Given the description of an element on the screen output the (x, y) to click on. 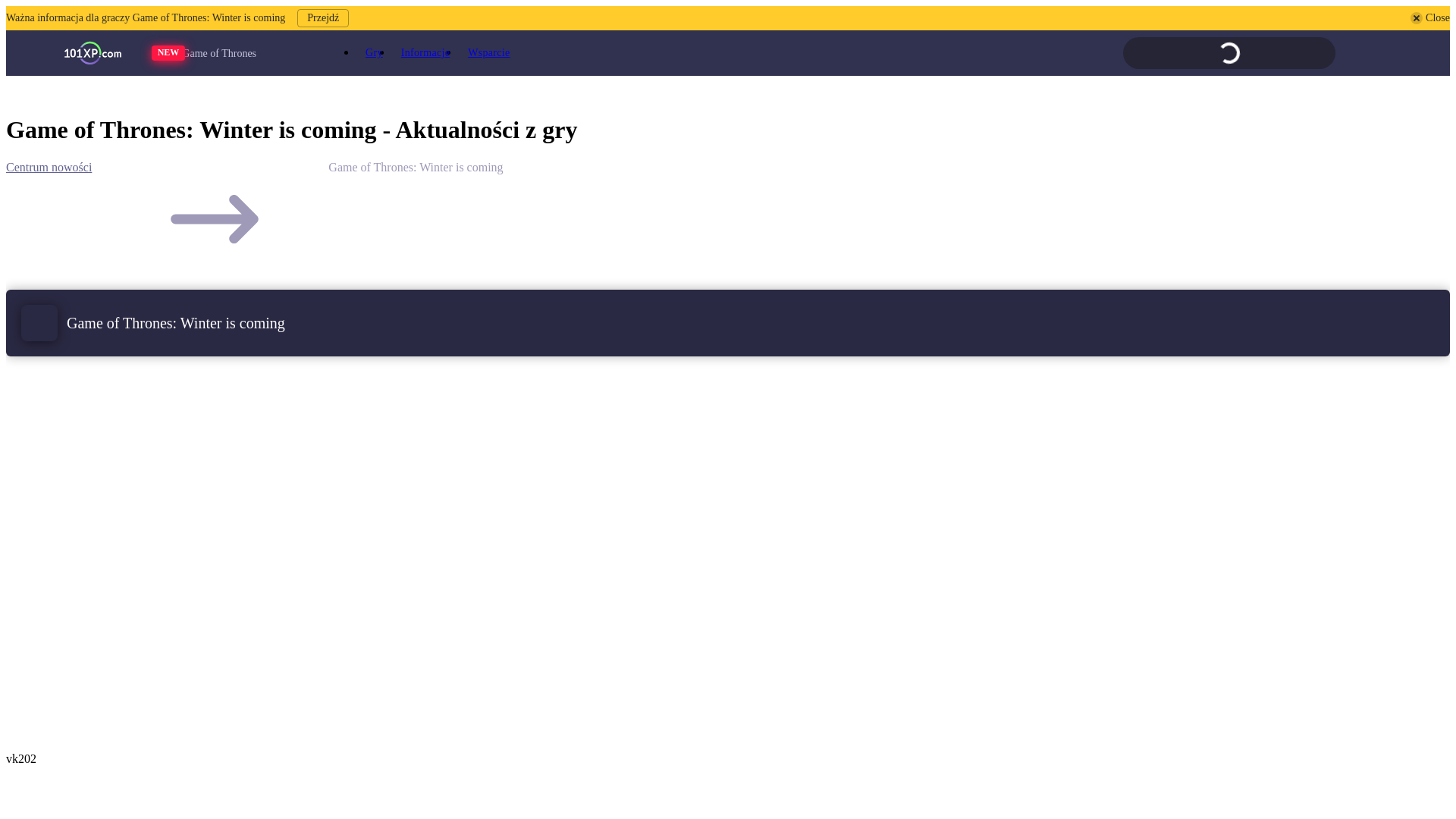
Informacje Element type: text (425, 52)
Gry Element type: text (374, 52)
NEW
Game of Thrones Element type: text (230, 53)
Wsparcie Element type: text (488, 52)
